Given the description of an element on the screen output the (x, y) to click on. 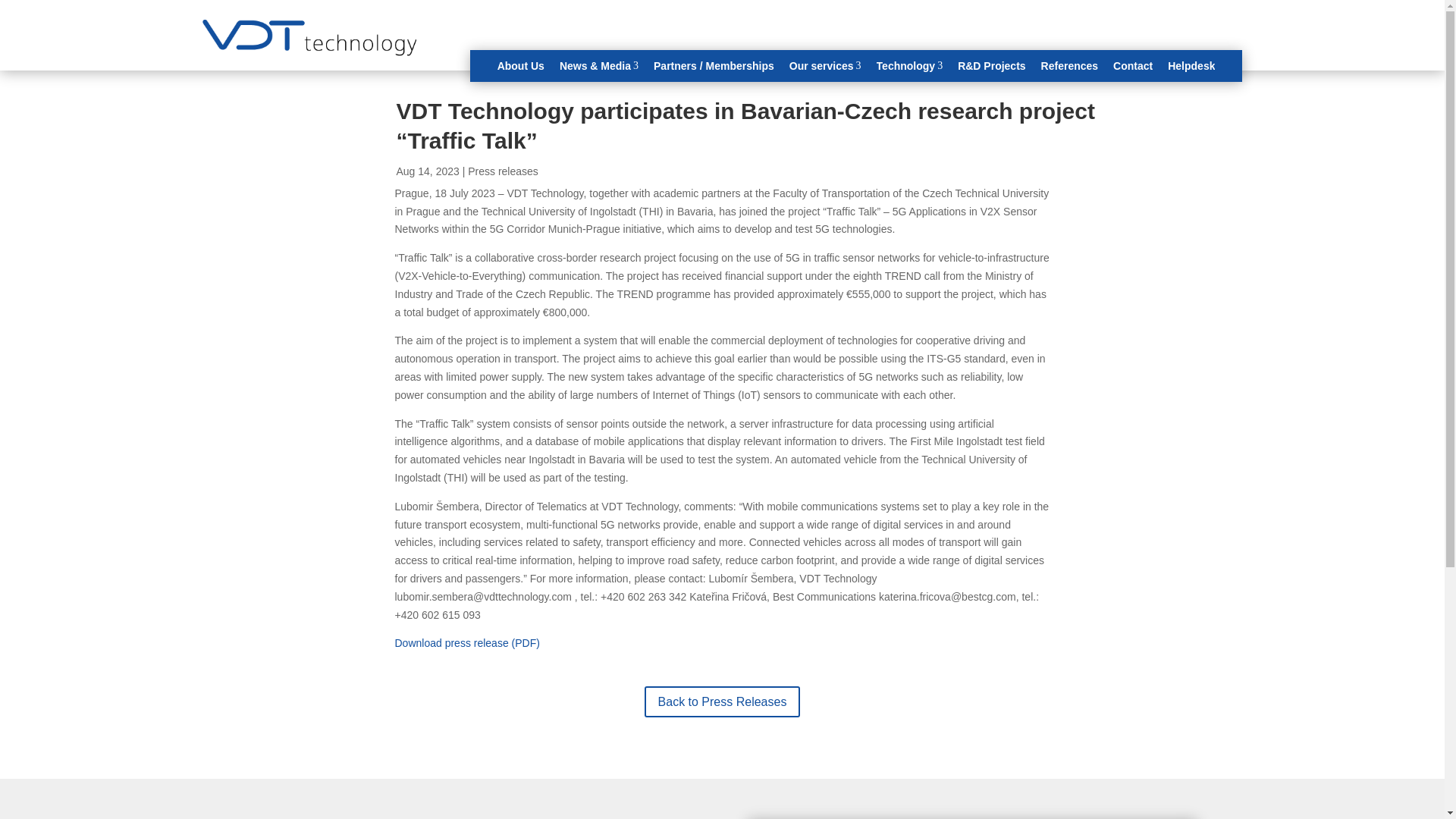
Helpdesk (909, 66)
About Us (1190, 66)
Contact (520, 66)
References (1133, 66)
